Given the description of an element on the screen output the (x, y) to click on. 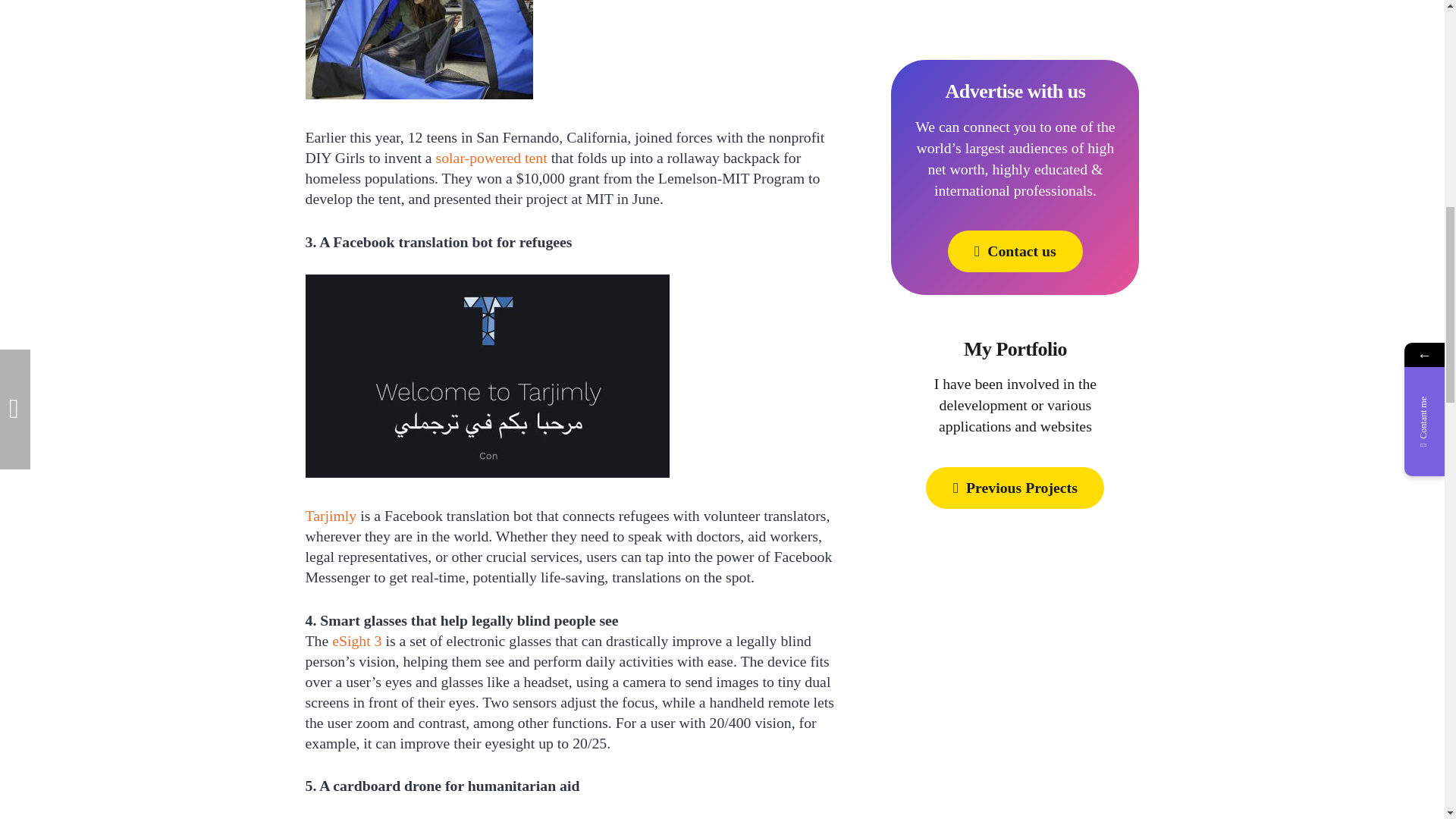
solar-powered tent (491, 157)
Tarjimly (330, 515)
eSight 3 (356, 640)
